Given the description of an element on the screen output the (x, y) to click on. 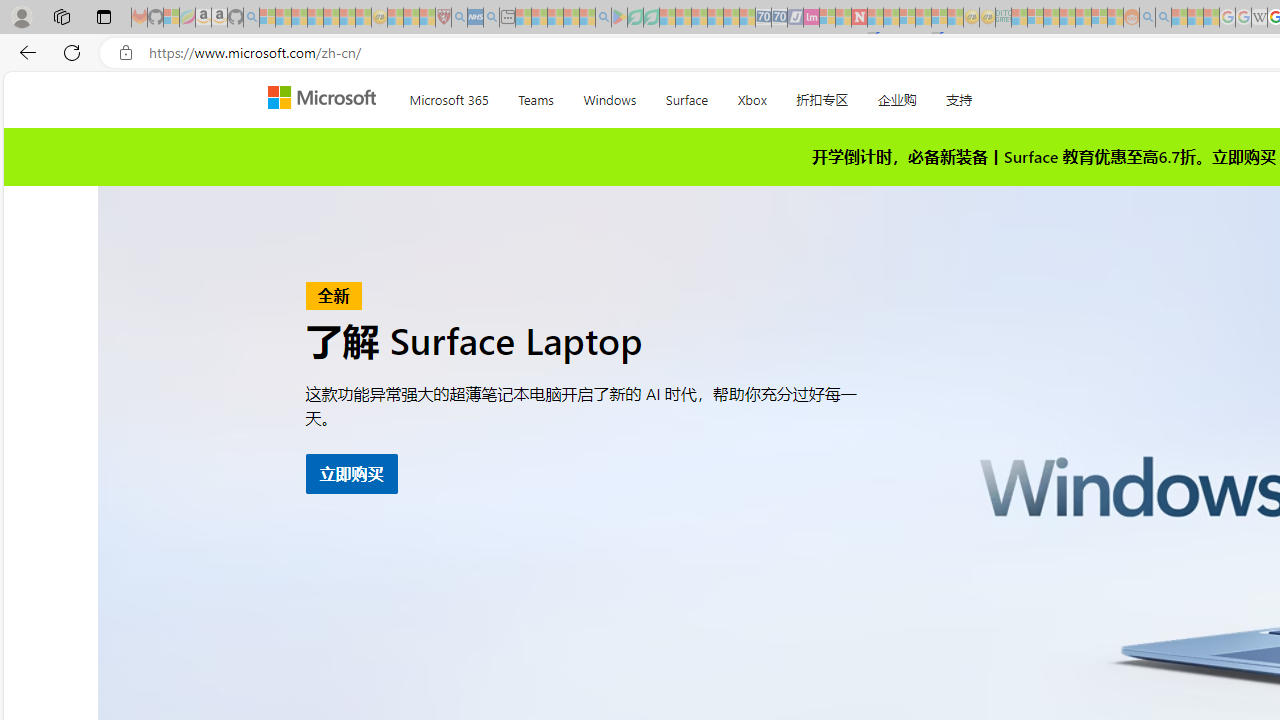
The Weather Channel - MSN - Sleeping (299, 17)
